Given the description of an element on the screen output the (x, y) to click on. 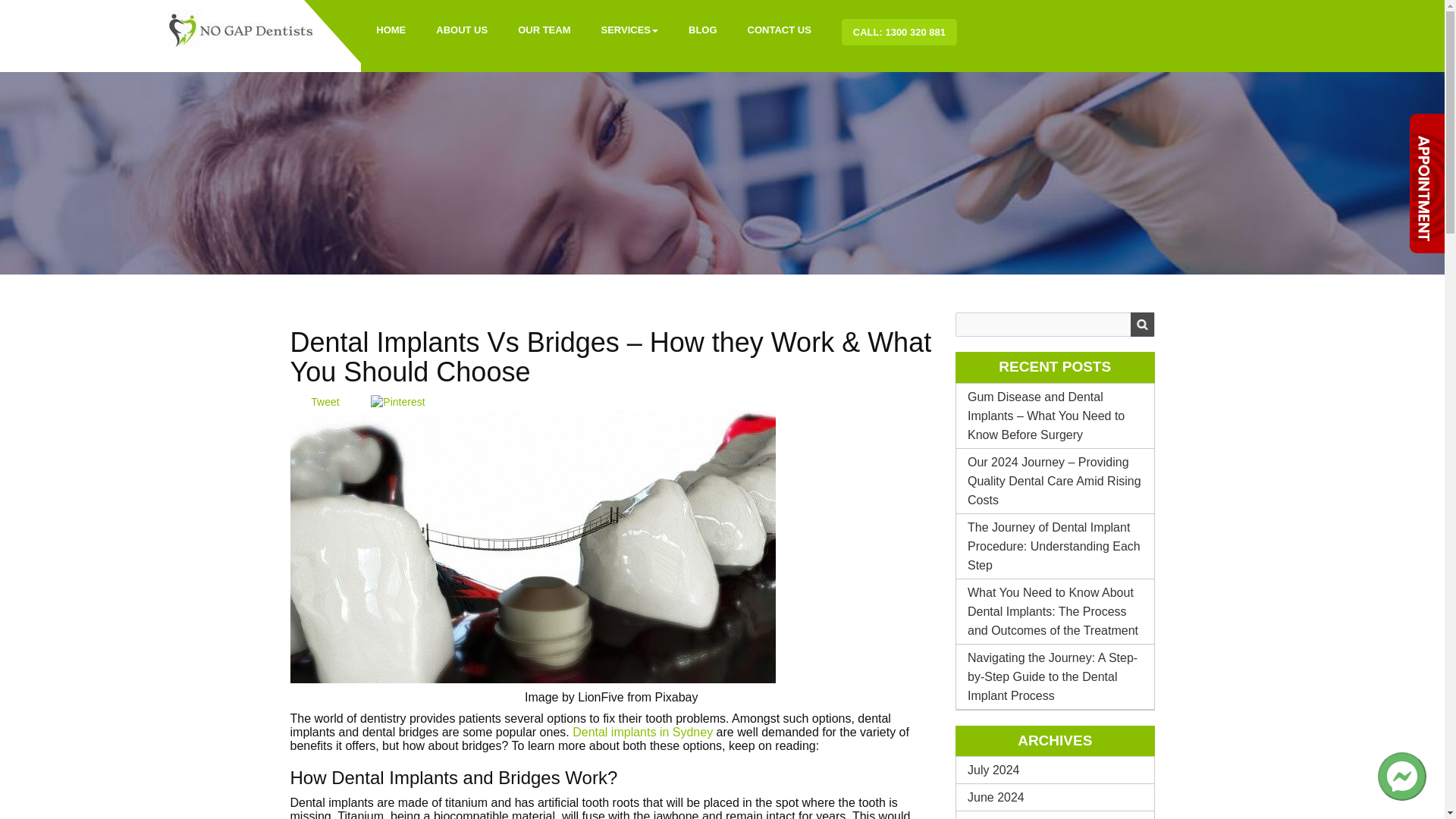
CALL: 1300 320 881 (898, 31)
HOME (390, 30)
Tweet (325, 401)
SERVICES (628, 30)
Dental implants in Sydney (642, 731)
May 2024 (1055, 815)
July 2024 (1055, 769)
Search (1141, 324)
ABOUT US (461, 30)
Affordable Dentists in Sydney (241, 29)
June 2024 (1055, 796)
Search (1141, 324)
CONTACT US (779, 30)
